Given the description of an element on the screen output the (x, y) to click on. 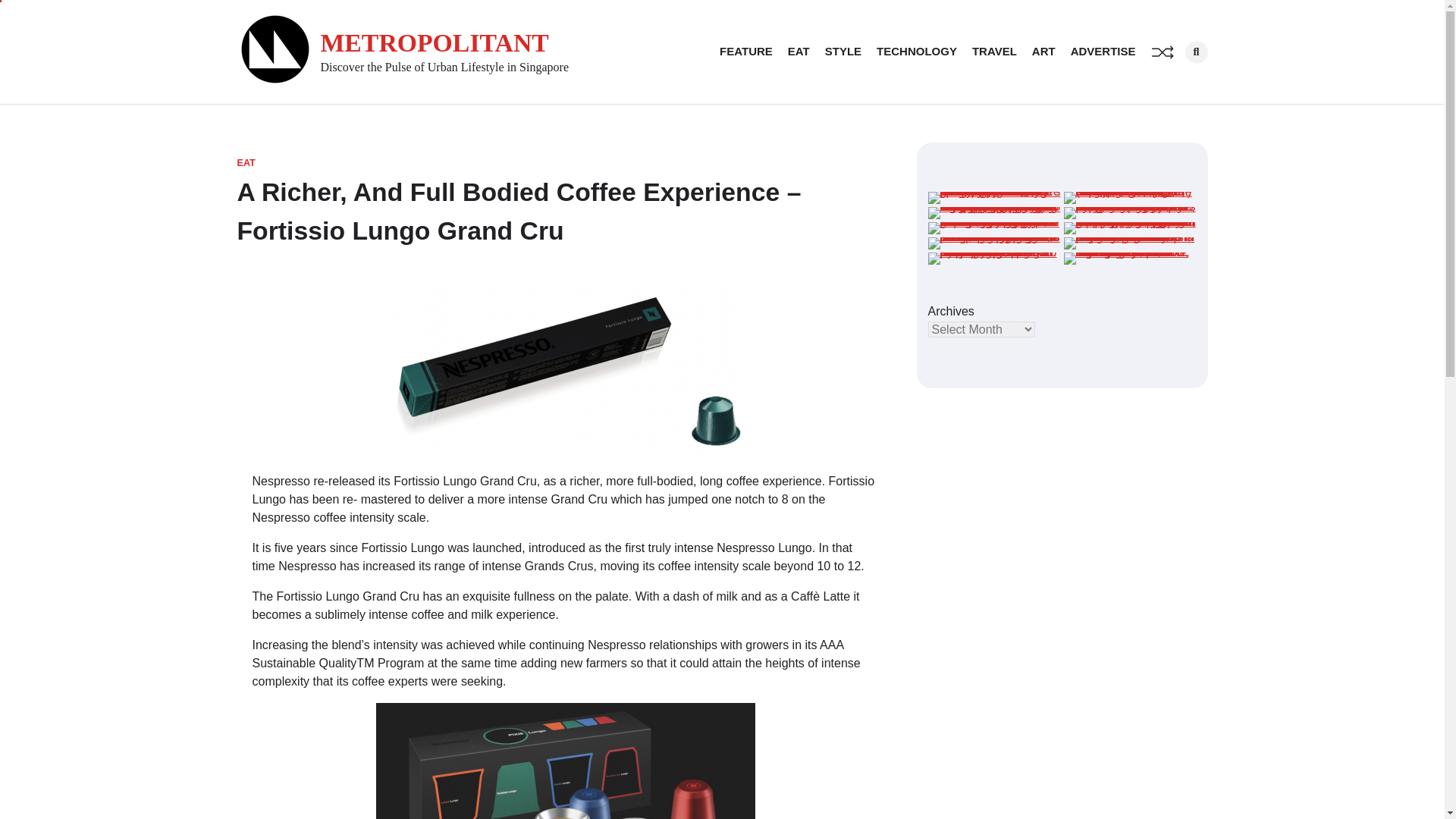
METROPOLITANT (434, 42)
Search (1170, 84)
TRAVEL (994, 51)
TECHNOLOGY (916, 51)
ADVERTISE (1102, 51)
EAT (244, 163)
FEATURE (746, 51)
Search (1196, 51)
STYLE (843, 51)
